Given the description of an element on the screen output the (x, y) to click on. 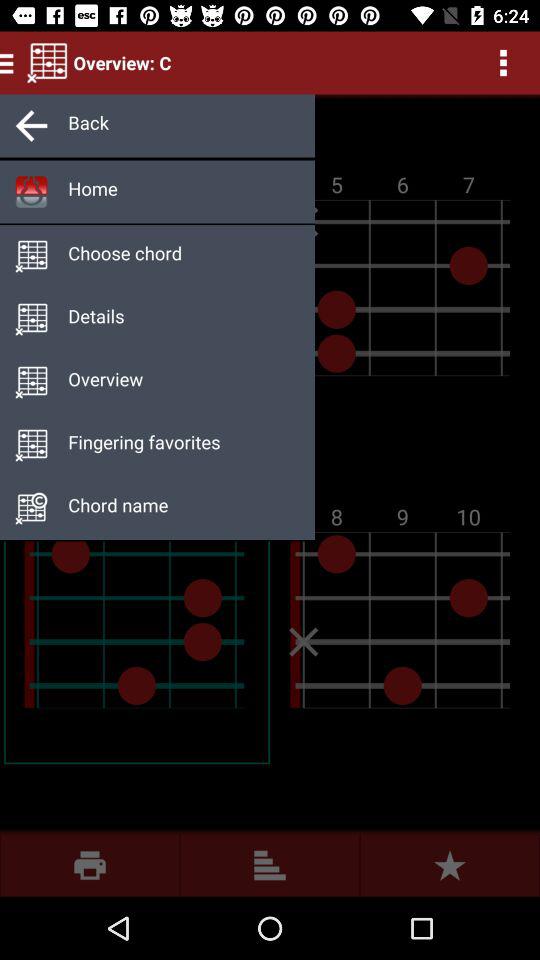
click on the icon beside chord name (31, 508)
